Given the description of an element on the screen output the (x, y) to click on. 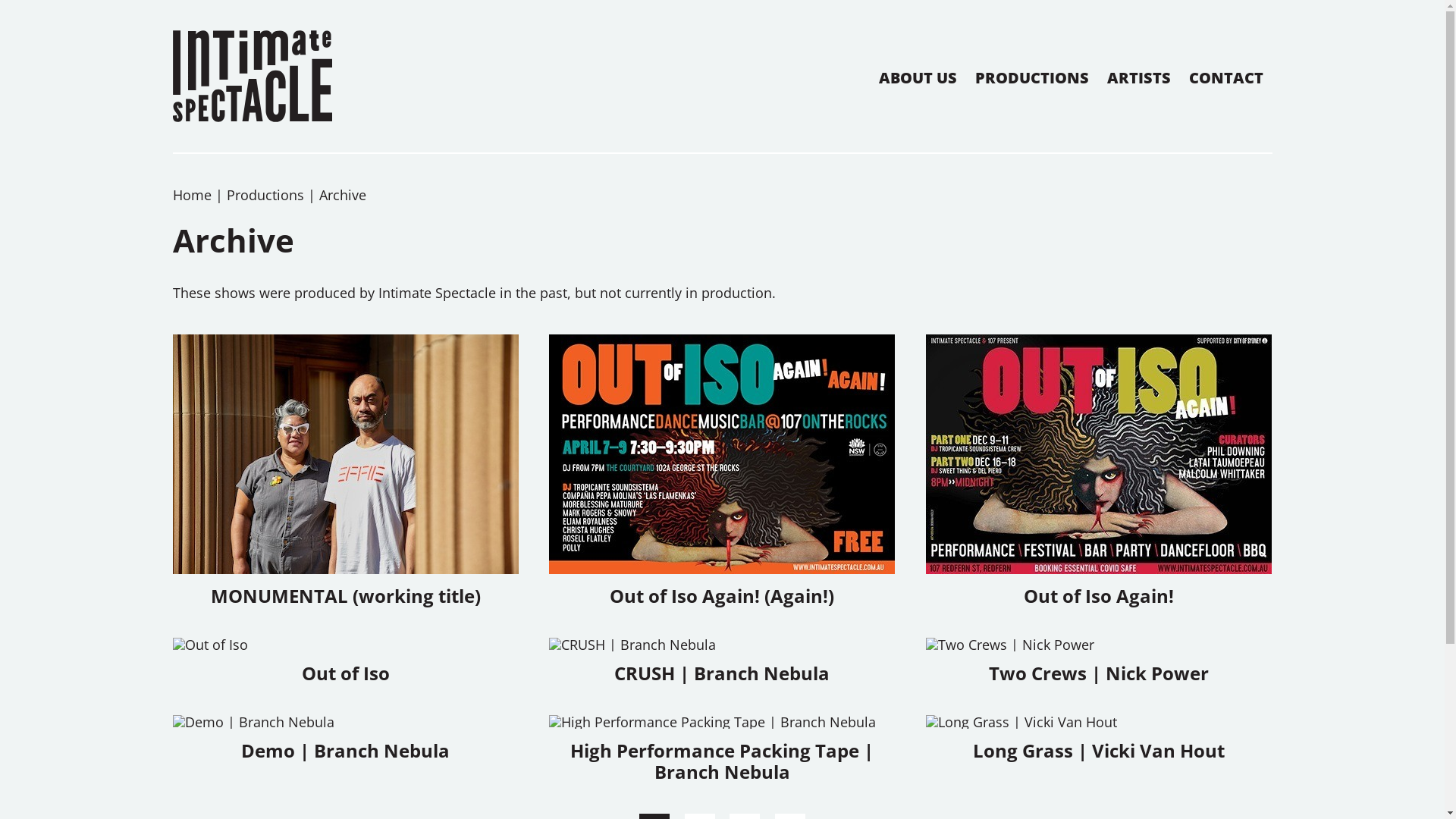
Out of Iso Again! (Again!) Element type: text (722, 470)
High Performance Packing Tape | Branch Nebula Element type: text (722, 749)
MONUMENTAL (working title) Element type: text (345, 470)
Long Grass | Vicki Van Hout Element type: text (1098, 738)
ARTISTS Element type: text (1138, 78)
Demo | Branch Nebula Element type: text (345, 738)
Two Crews | Nick Power Element type: text (1098, 660)
Productions Element type: text (264, 194)
PRODUCTIONS Element type: text (1031, 78)
ABOUT US Element type: text (917, 78)
Out of Iso Element type: text (345, 660)
Intimate Spectacle Element type: hover (252, 76)
Out of Iso Again! Element type: text (1098, 470)
CONTACT Element type: text (1226, 78)
CRUSH | Branch Nebula Element type: text (722, 660)
Home Element type: text (191, 194)
